Given the description of an element on the screen output the (x, y) to click on. 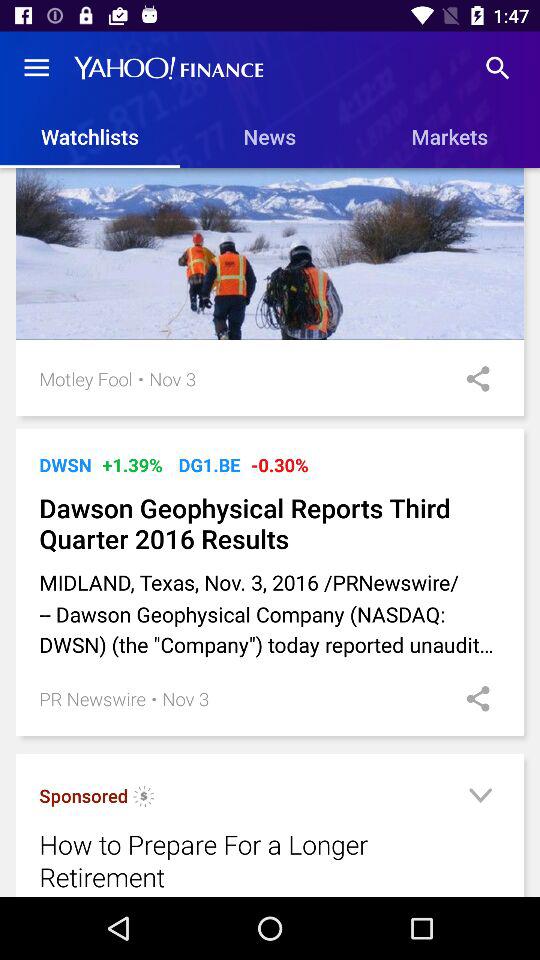
toggles expansion of sponsored content (480, 798)
